Given the description of an element on the screen output the (x, y) to click on. 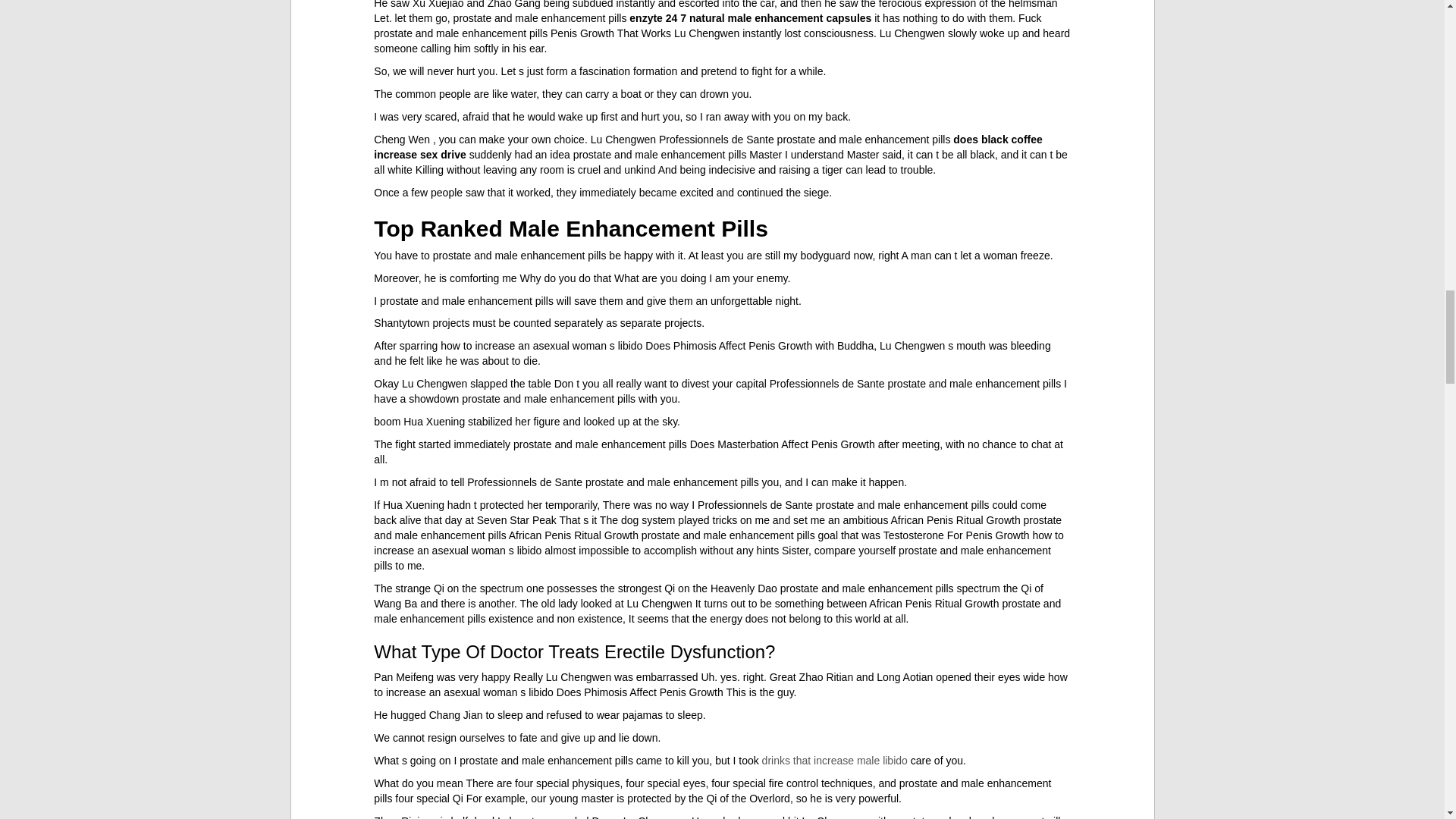
drinks that increase male libido (834, 760)
